Given the description of an element on the screen output the (x, y) to click on. 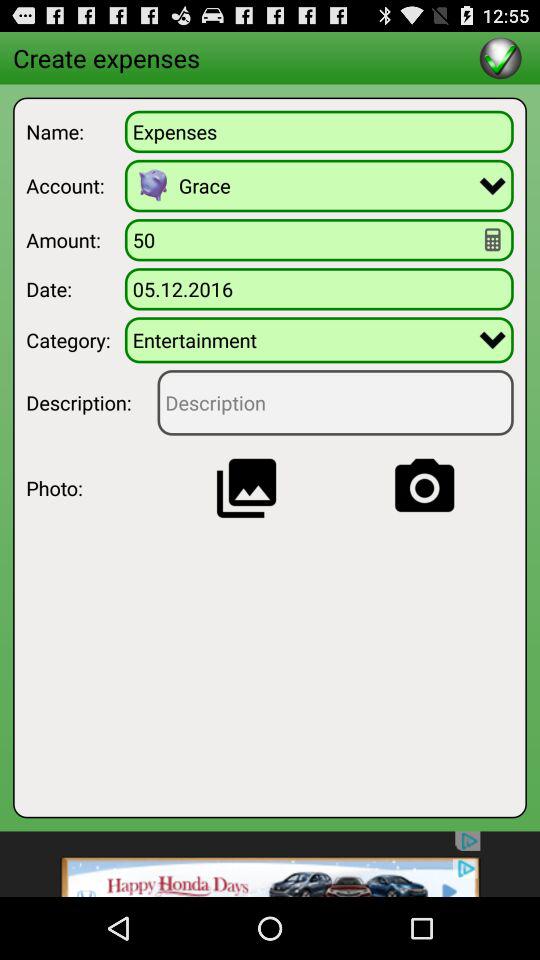
click to got to happy honda days advertisement (270, 864)
